Given the description of an element on the screen output the (x, y) to click on. 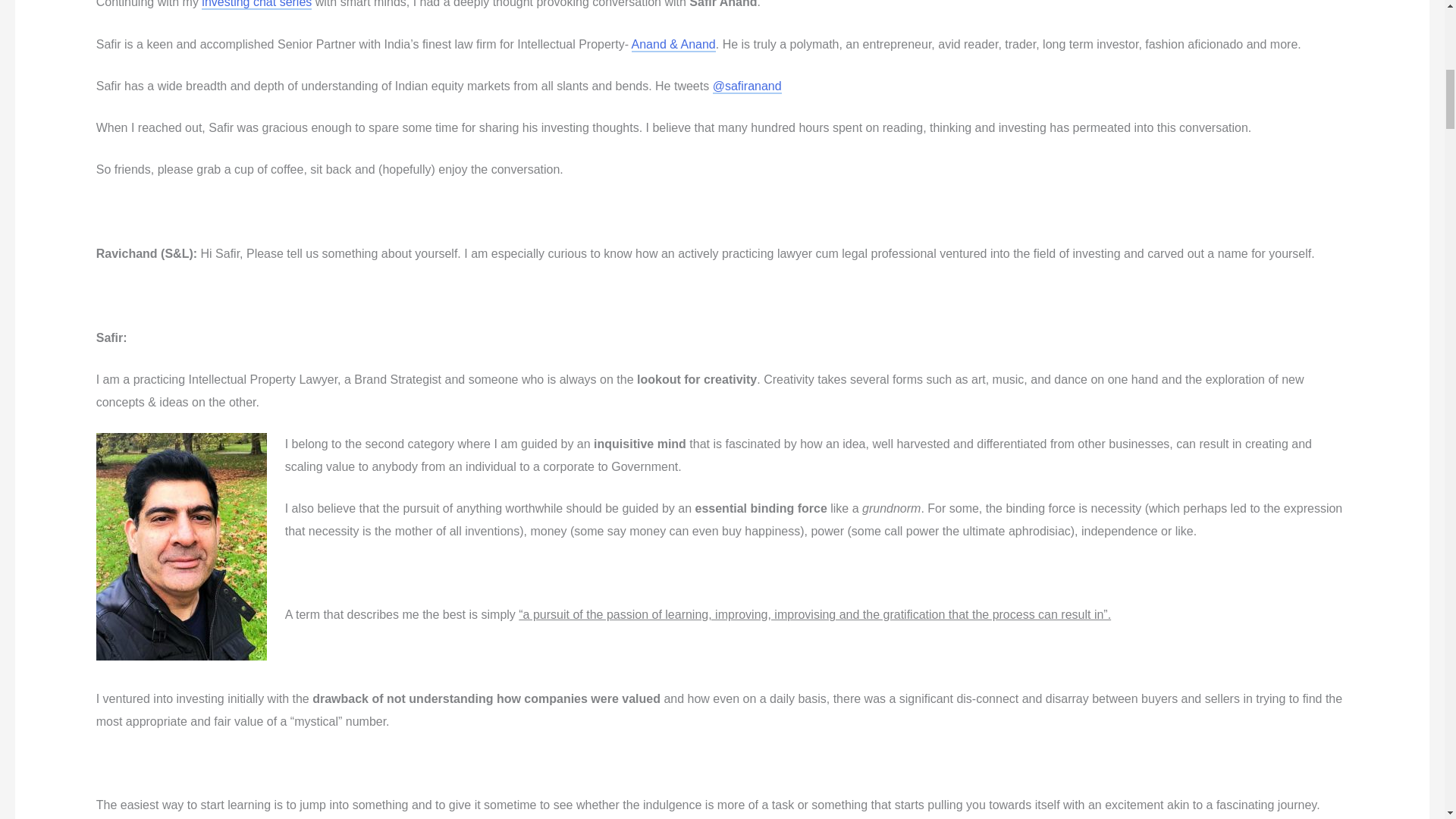
investing chat series (256, 4)
